Given the description of an element on the screen output the (x, y) to click on. 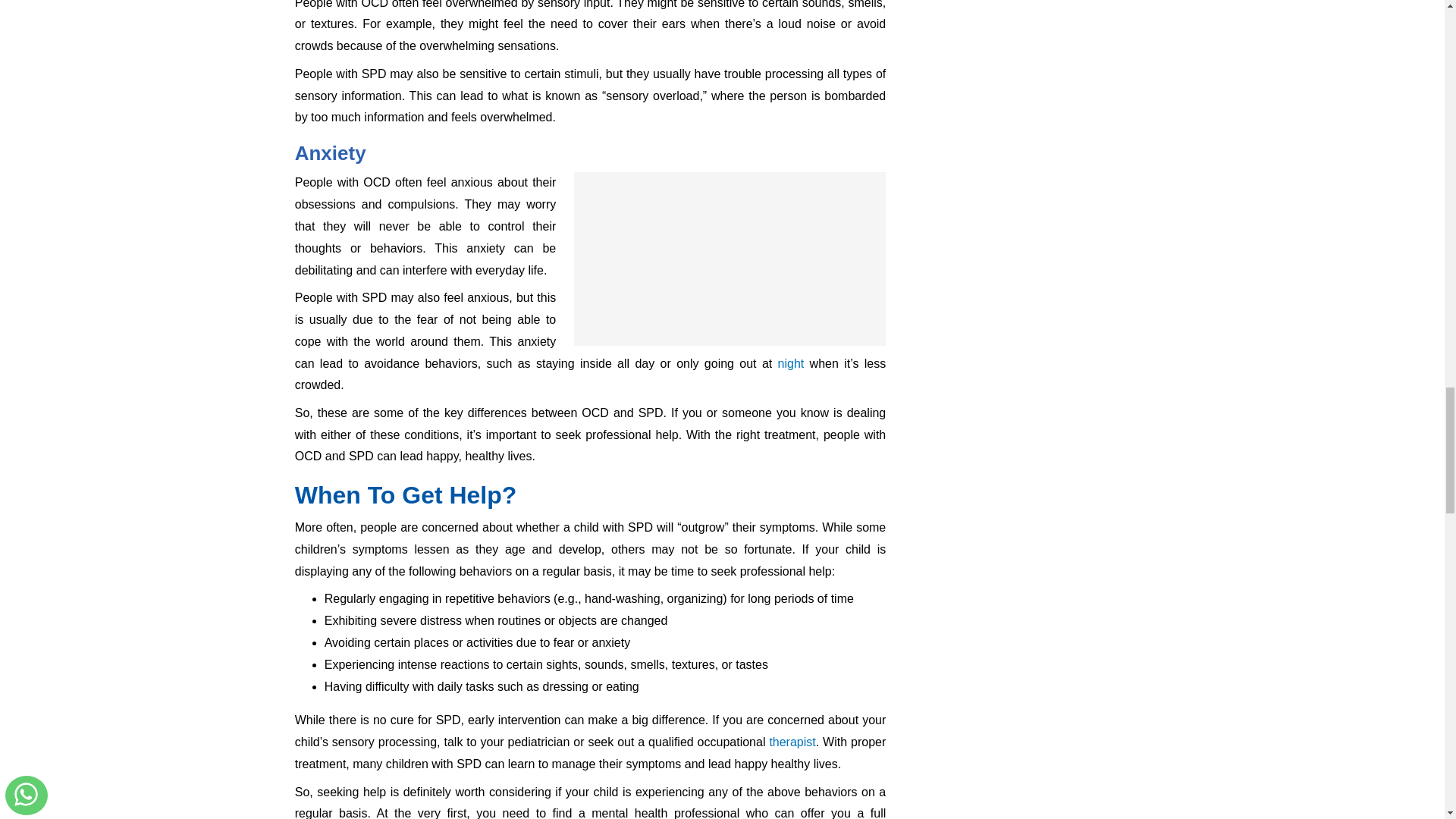
Therapist (791, 741)
Night (791, 362)
